Given the description of an element on the screen output the (x, y) to click on. 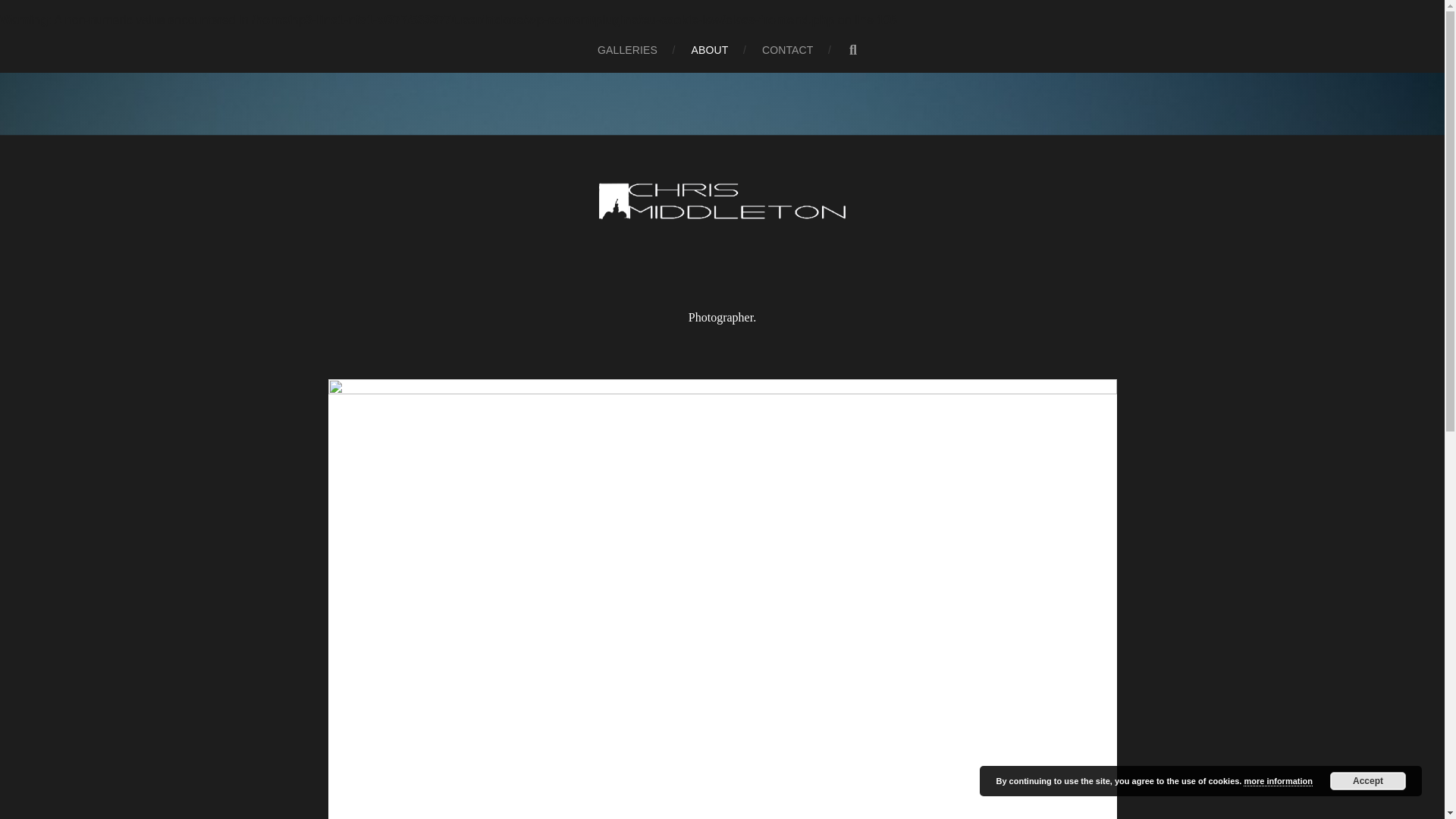
more information (1277, 781)
CONTACT (787, 49)
Accept (1368, 781)
Chris Middleton (721, 207)
GALLERIES (627, 49)
